Given the description of an element on the screen output the (x, y) to click on. 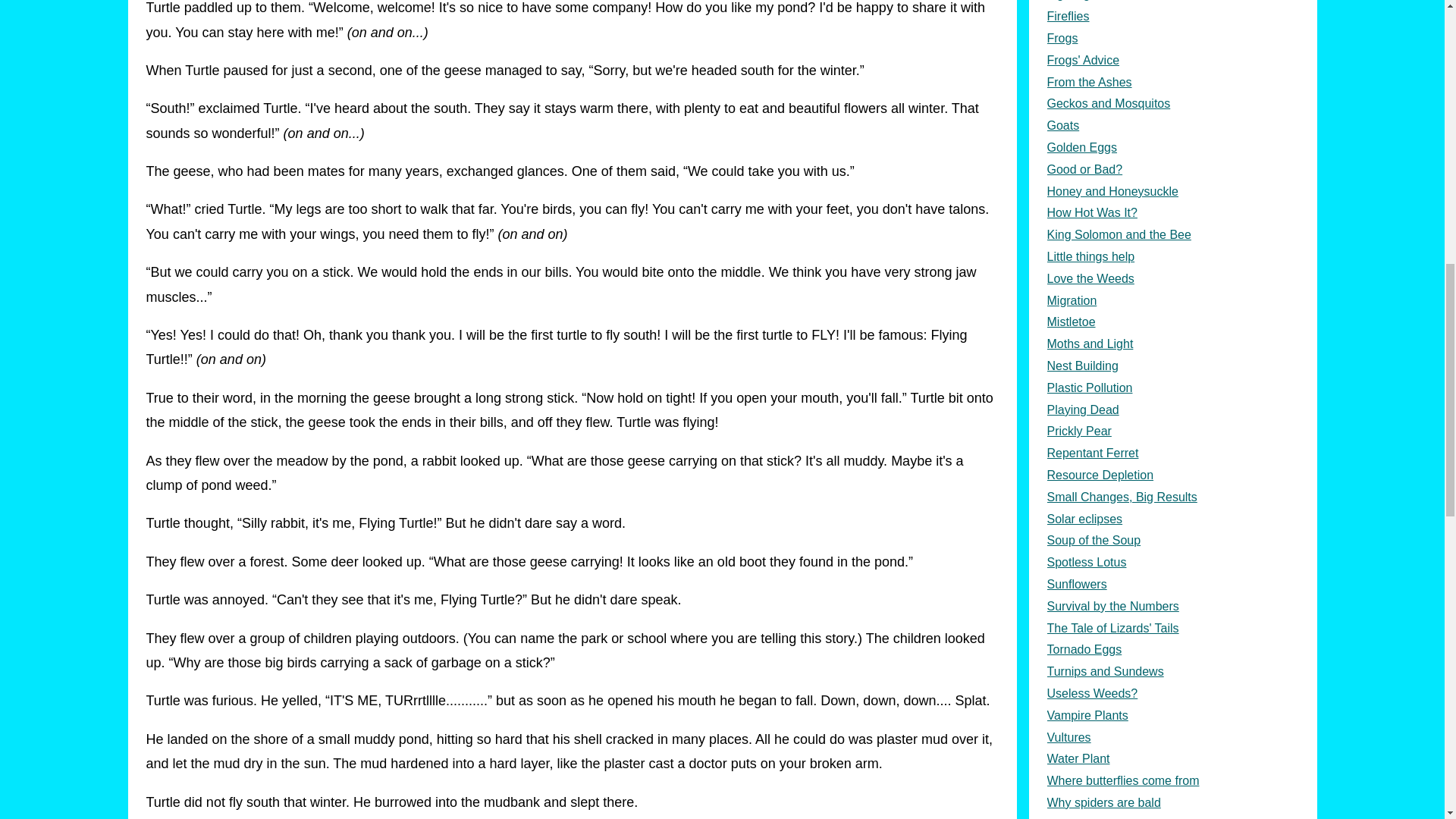
Frogs (1172, 38)
Fireflies (1172, 16)
From the Ashes (1172, 83)
Frogs' Advice (1172, 60)
Fighting fire (1172, 2)
